Given the description of an element on the screen output the (x, y) to click on. 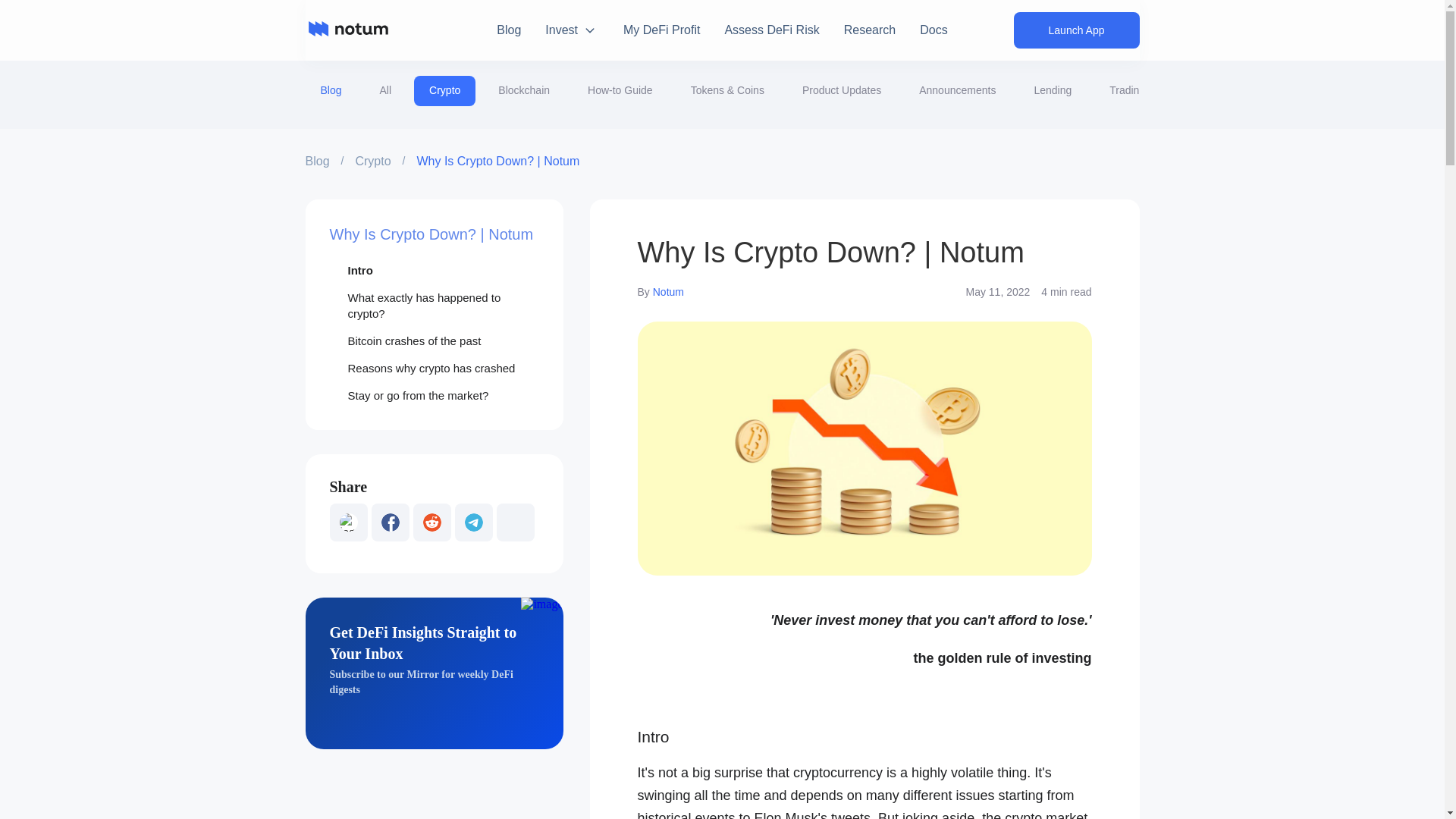
Launch App (1076, 30)
Assess DeFi Risk (770, 30)
Reasons why crypto has crashed  (433, 367)
Copy link (515, 522)
Docs (933, 30)
Research (869, 30)
My DeFi Profit (661, 30)
Crypto (372, 160)
Bitcoin crashes of the past (433, 340)
